Given the description of an element on the screen output the (x, y) to click on. 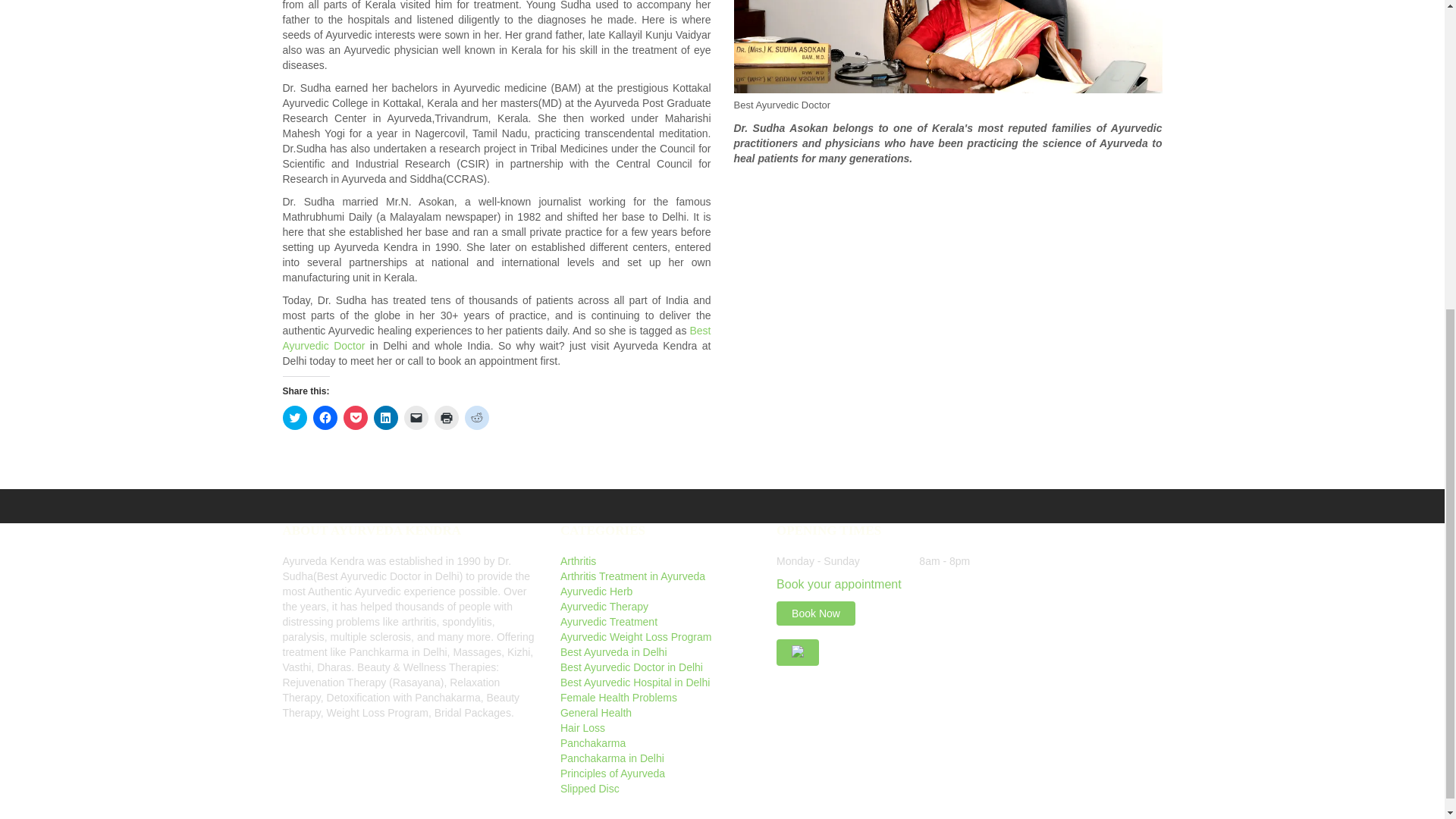
Click to share on Pocket (354, 417)
Click to email a link to a friend (415, 417)
Click to share on Twitter (293, 417)
Click to share on LinkedIn (384, 417)
Click to share on Facebook (324, 417)
Click to share on Reddit (475, 417)
Click to print (445, 417)
